Given the description of an element on the screen output the (x, y) to click on. 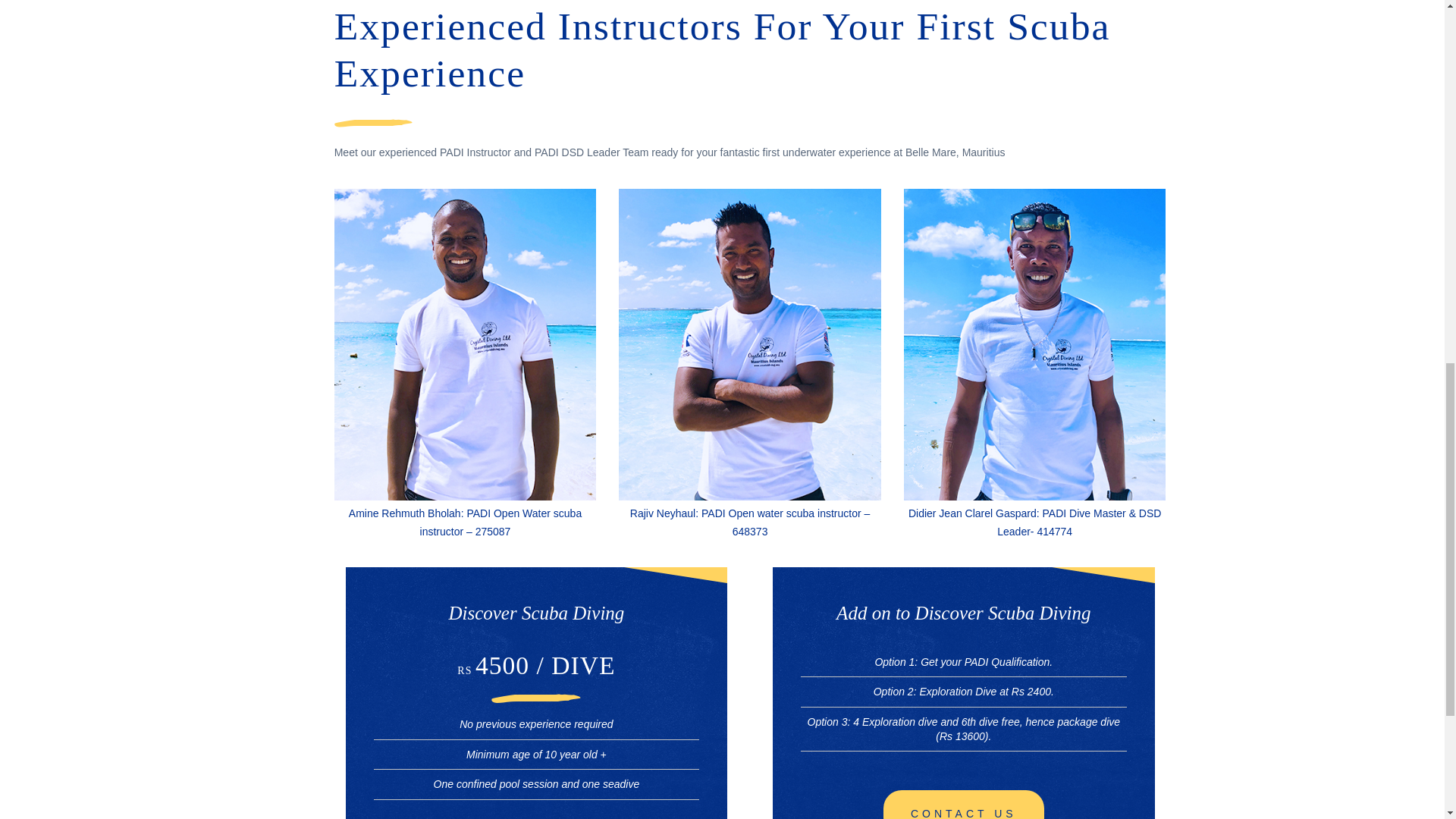
CONTACT US (963, 804)
